Given the description of an element on the screen output the (x, y) to click on. 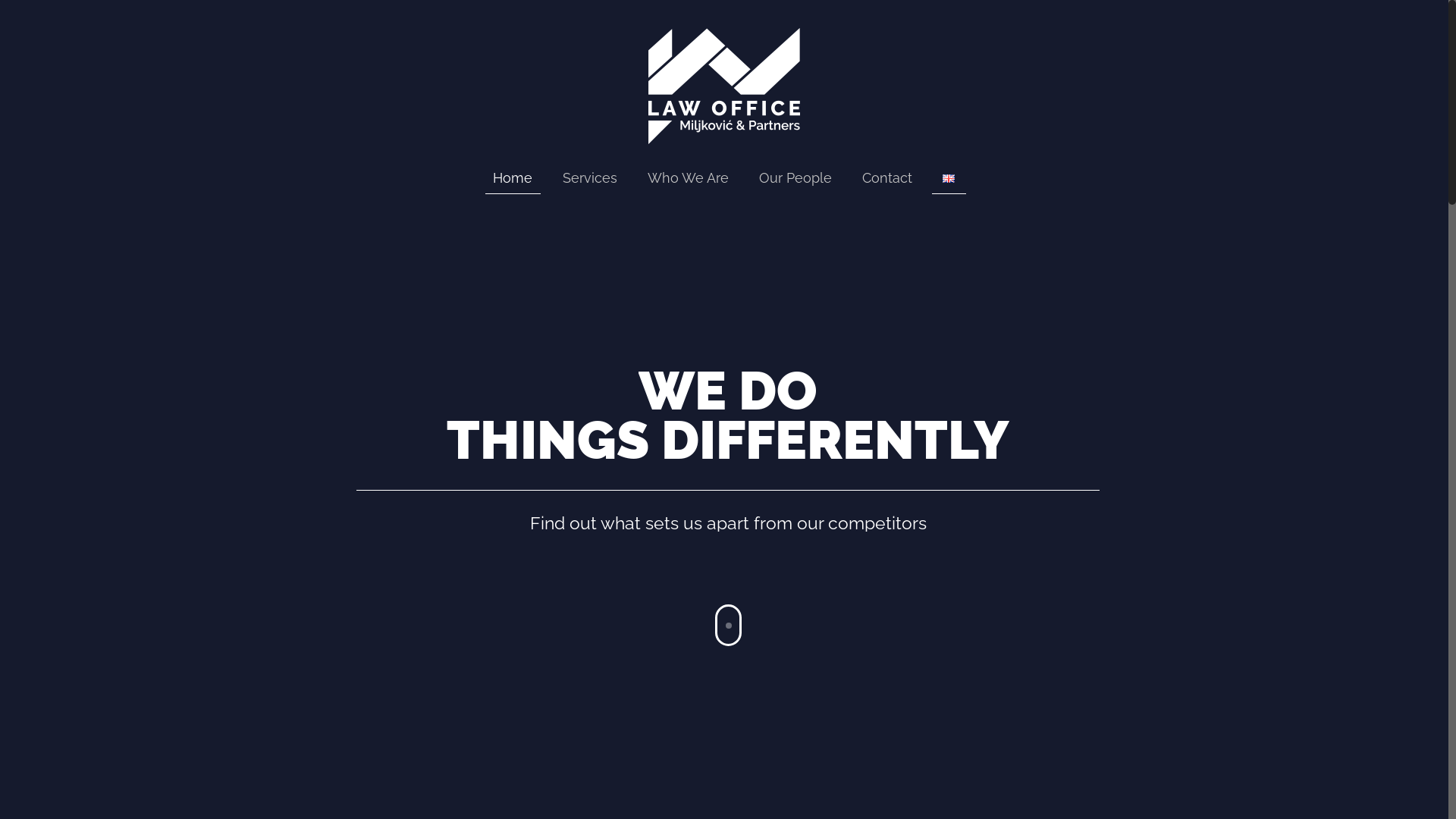
Services Element type: text (589, 177)
Contact Element type: text (887, 177)
Home Element type: text (512, 177)
Who We Are Element type: text (687, 177)
Our People Element type: text (795, 177)
